Given the description of an element on the screen output the (x, y) to click on. 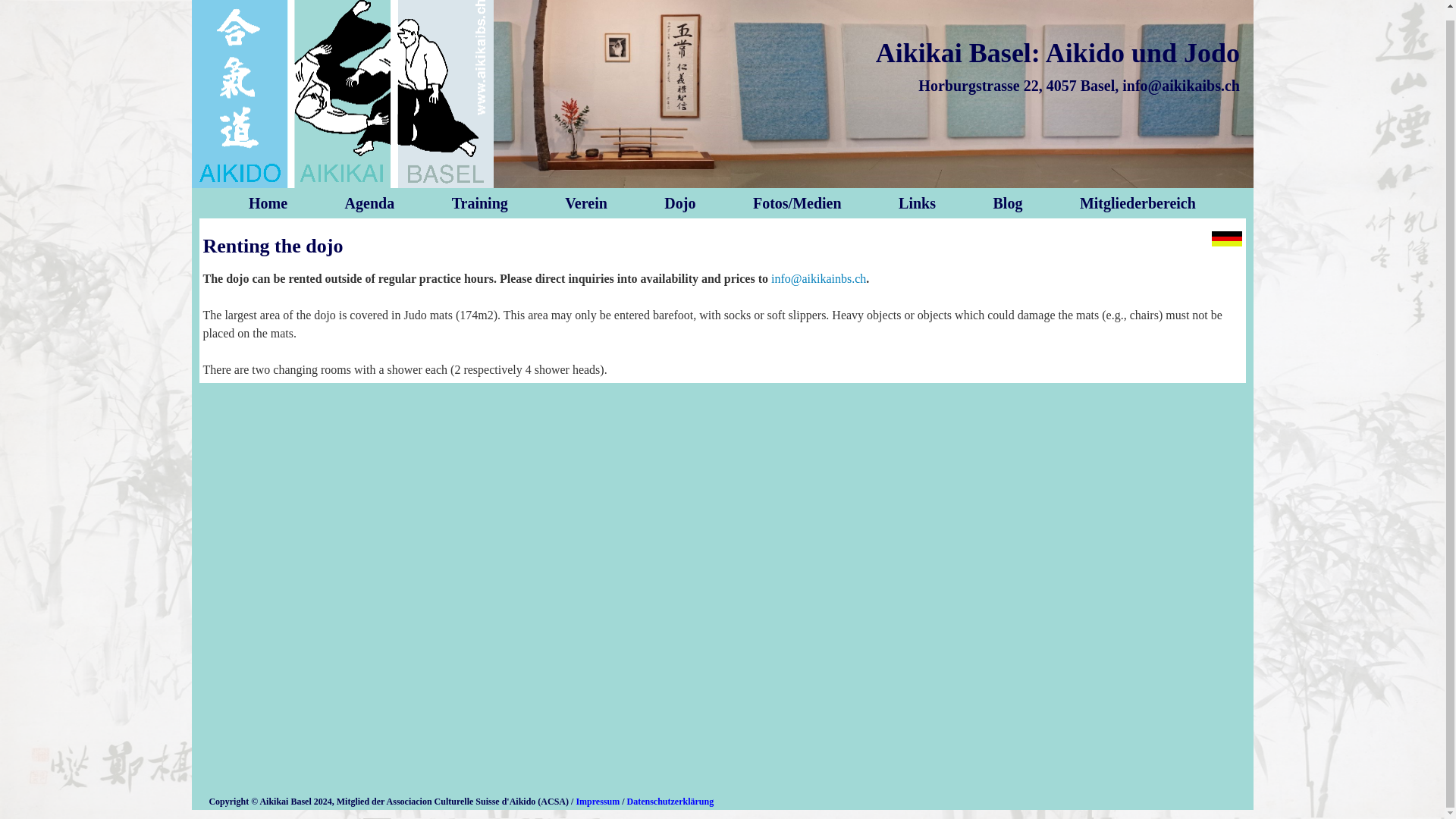
Training (479, 203)
Impressum (597, 799)
Agenda (369, 203)
Dojo (679, 203)
Blog (1007, 203)
Links (917, 203)
Verein (585, 203)
Mitgliederbereich (1137, 203)
Home (267, 203)
